Given the description of an element on the screen output the (x, y) to click on. 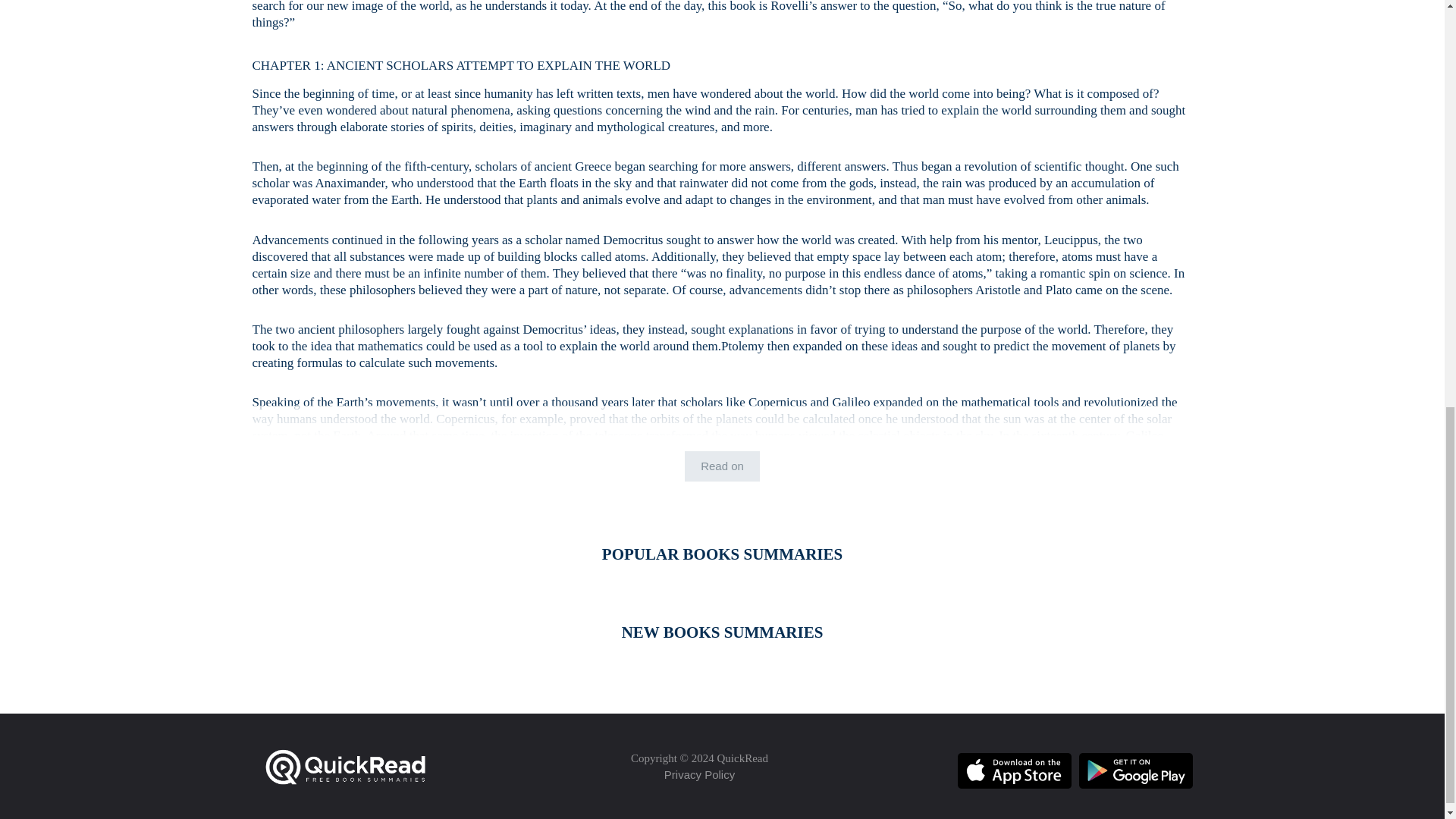
Privacy Policy (699, 775)
Read on (722, 466)
